Given the description of an element on the screen output the (x, y) to click on. 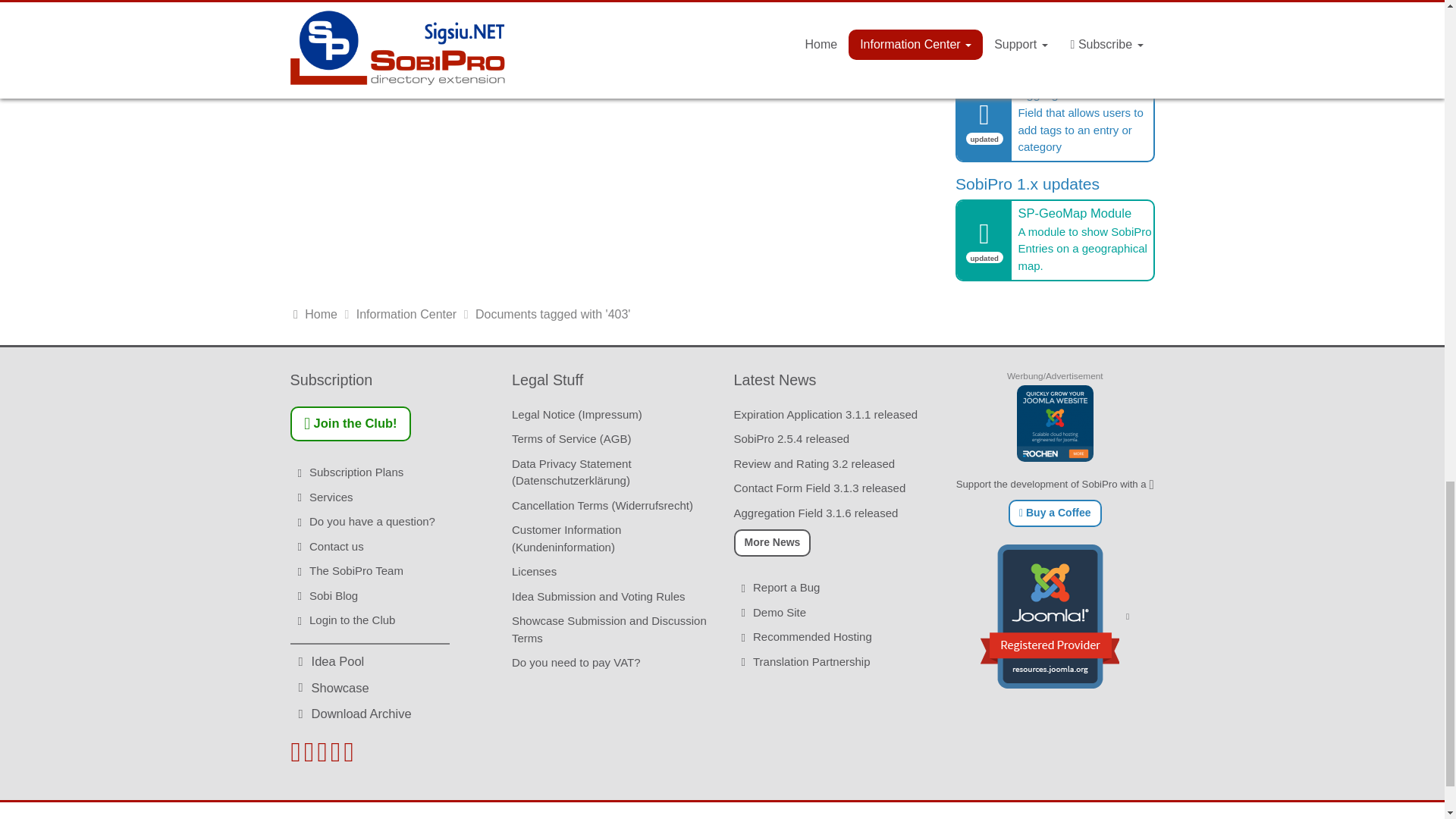
Do you have an idea for a new feature? Add it here! (380, 660)
Hosting for SobiPro (1054, 422)
Download older versions of SobiPro and its applications (380, 713)
A Showcase Directory for sites made with SobiPro (380, 687)
